Given the description of an element on the screen output the (x, y) to click on. 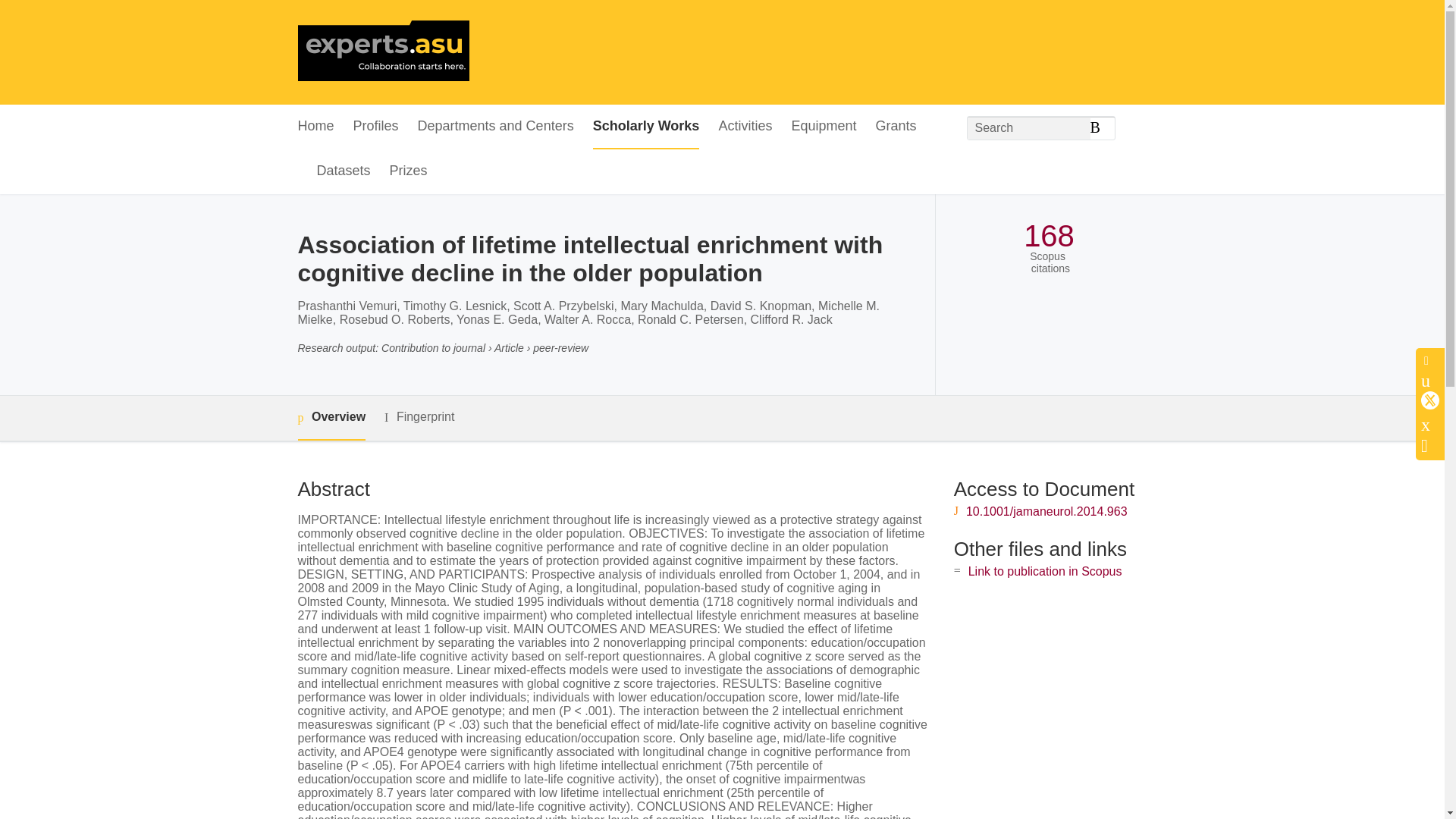
168 (1048, 235)
Arizona State University Home (382, 52)
Link to publication in Scopus (1045, 571)
Departments and Centers (495, 126)
Overview (331, 417)
Scholarly Works (646, 126)
Grants (895, 126)
Profiles (375, 126)
Activities (744, 126)
